Given the description of an element on the screen output the (x, y) to click on. 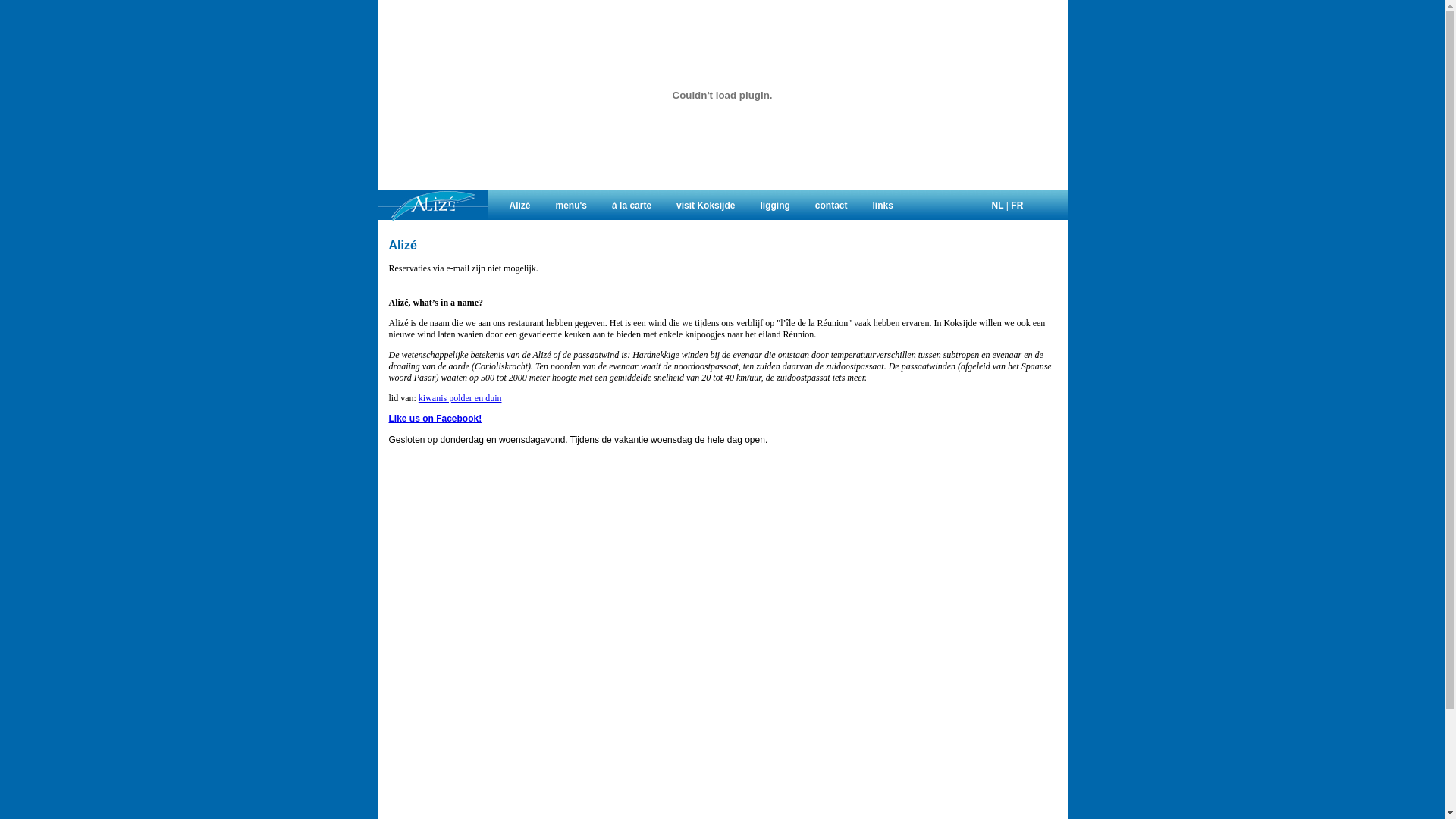
kiwanis polder en duin Element type: text (460, 397)
menu's Element type: text (571, 205)
links Element type: text (882, 205)
ligging Element type: text (774, 205)
visit Koksijde Element type: text (705, 205)
FR Element type: text (1016, 205)
contact Element type: text (831, 205)
Like us on Facebook! Element type: text (434, 418)
NL Element type: text (997, 205)
